Given the description of an element on the screen output the (x, y) to click on. 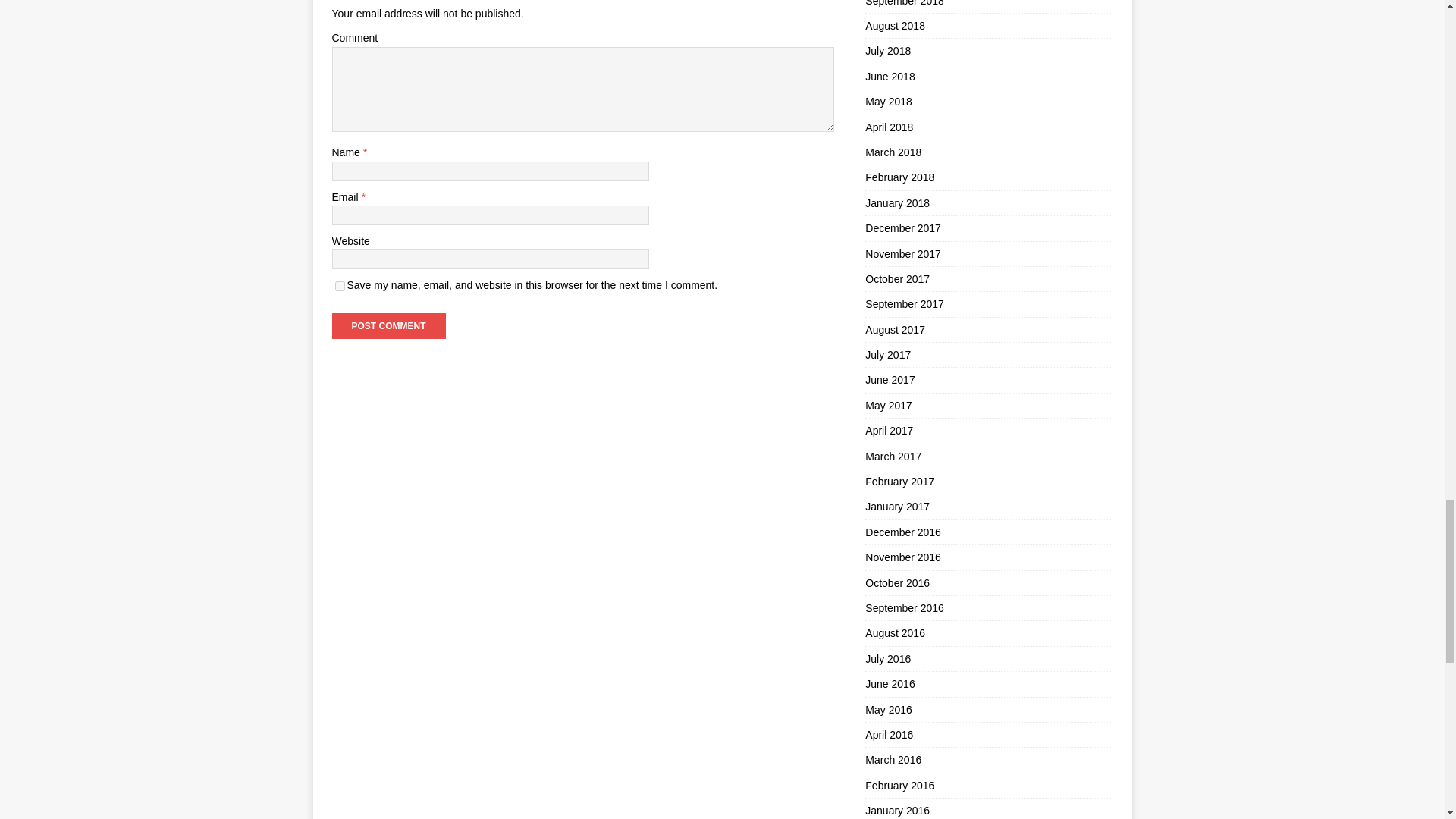
yes (339, 286)
Post Comment (388, 325)
Post Comment (388, 325)
